Given the description of an element on the screen output the (x, y) to click on. 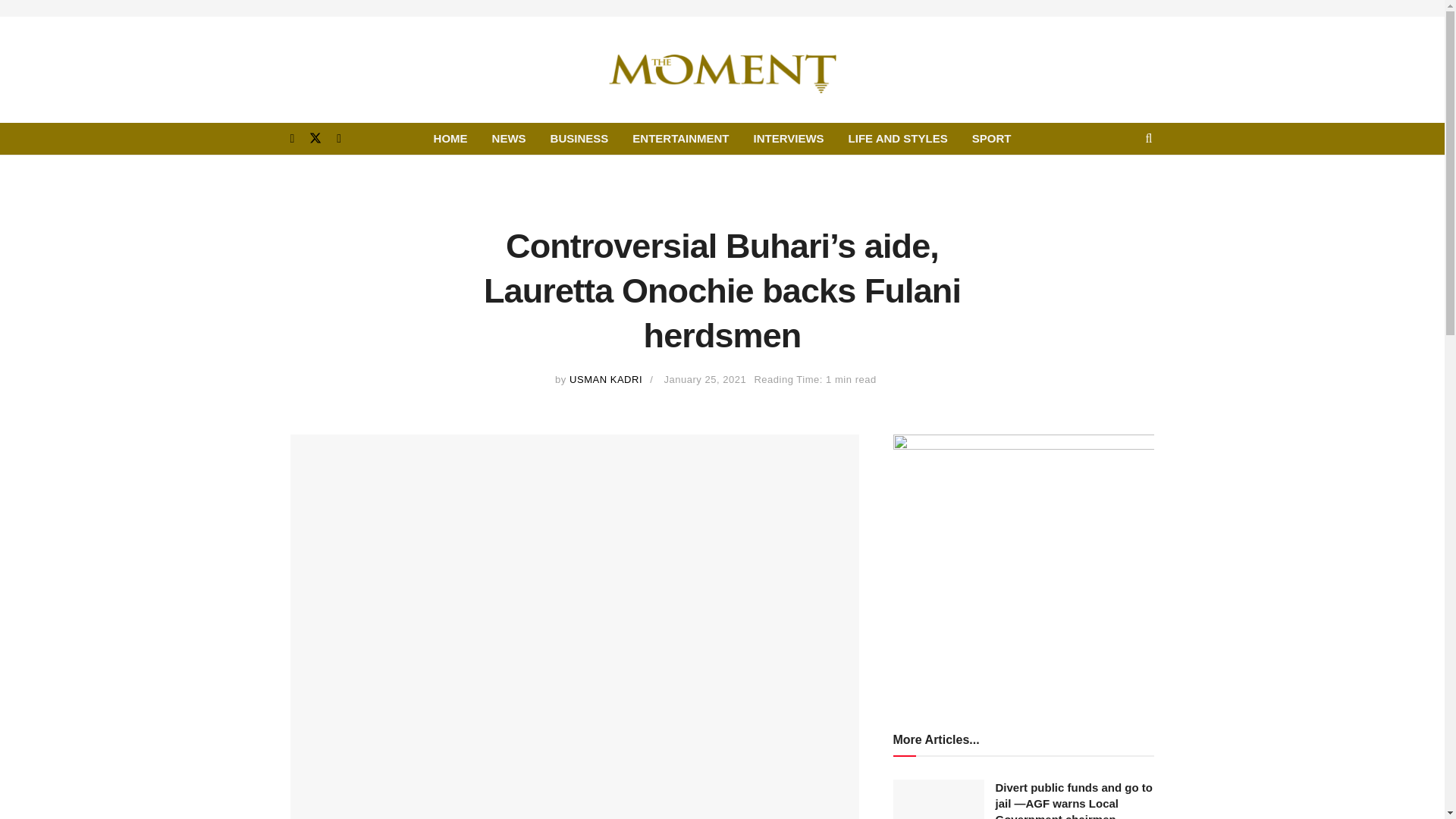
SPORT (991, 138)
LIFE AND STYLES (897, 138)
ENTERTAINMENT (680, 138)
NEWS (509, 138)
USMAN KADRI (605, 378)
INTERVIEWS (788, 138)
BUSINESS (579, 138)
HOME (451, 138)
